Given the description of an element on the screen output the (x, y) to click on. 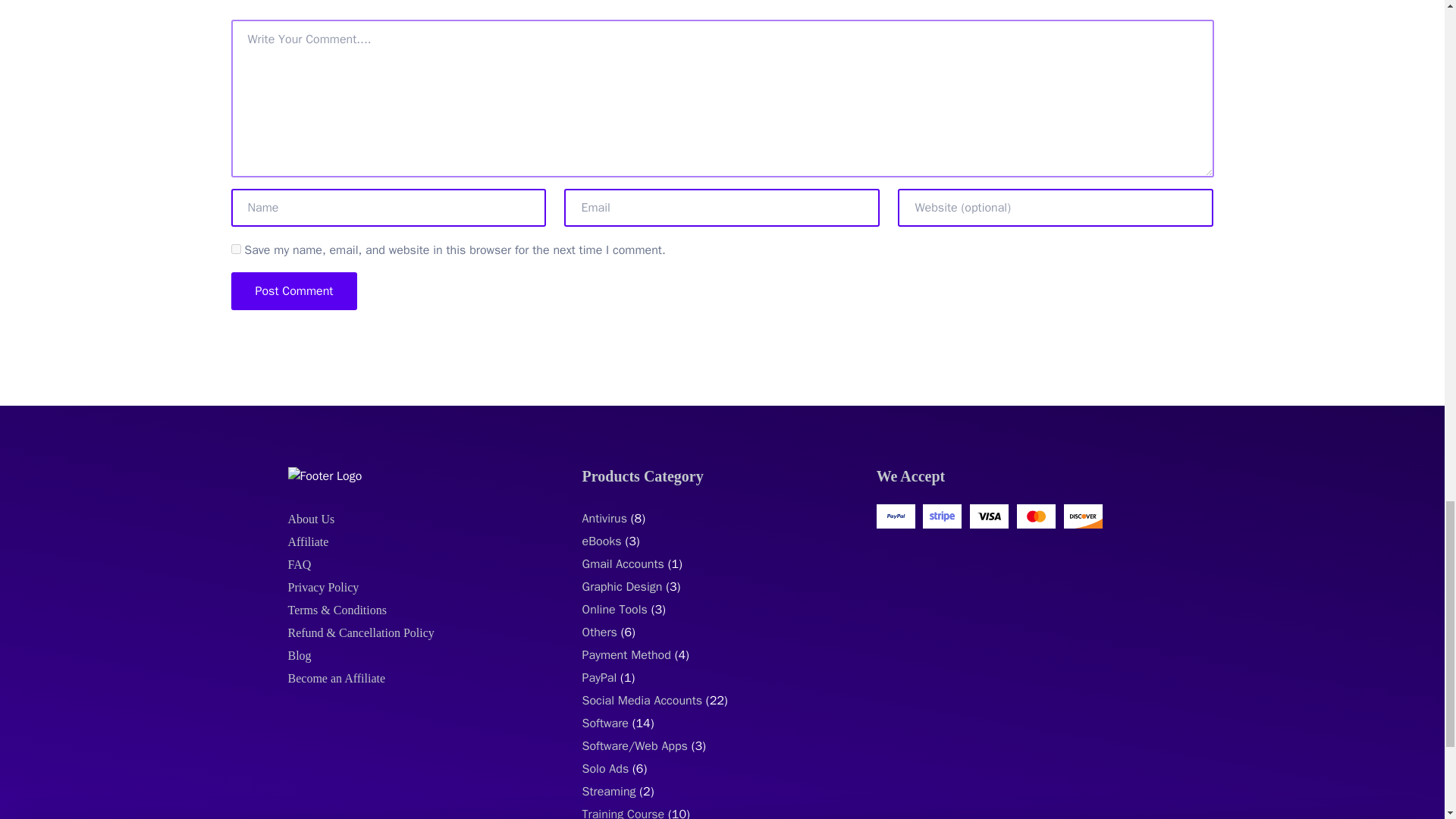
Post Comment (293, 290)
yes (235, 248)
